Given the description of an element on the screen output the (x, y) to click on. 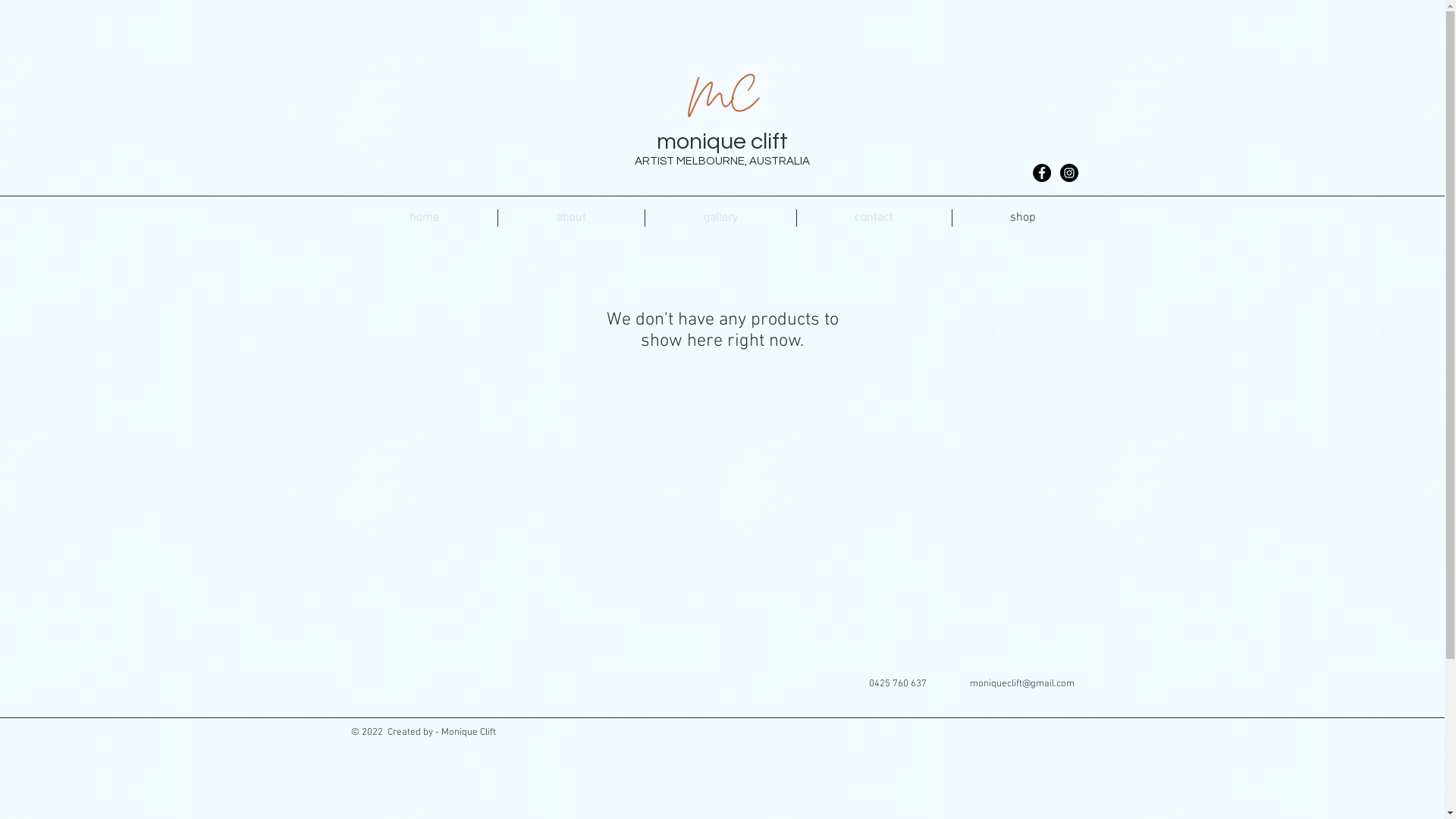
contact Element type: text (873, 217)
home Element type: text (423, 217)
moniqueclift@gmail.com Element type: text (1021, 683)
about Element type: text (570, 217)
shop Element type: text (1023, 217)
gallery Element type: text (719, 217)
monique clift Element type: text (721, 141)
